Given the description of an element on the screen output the (x, y) to click on. 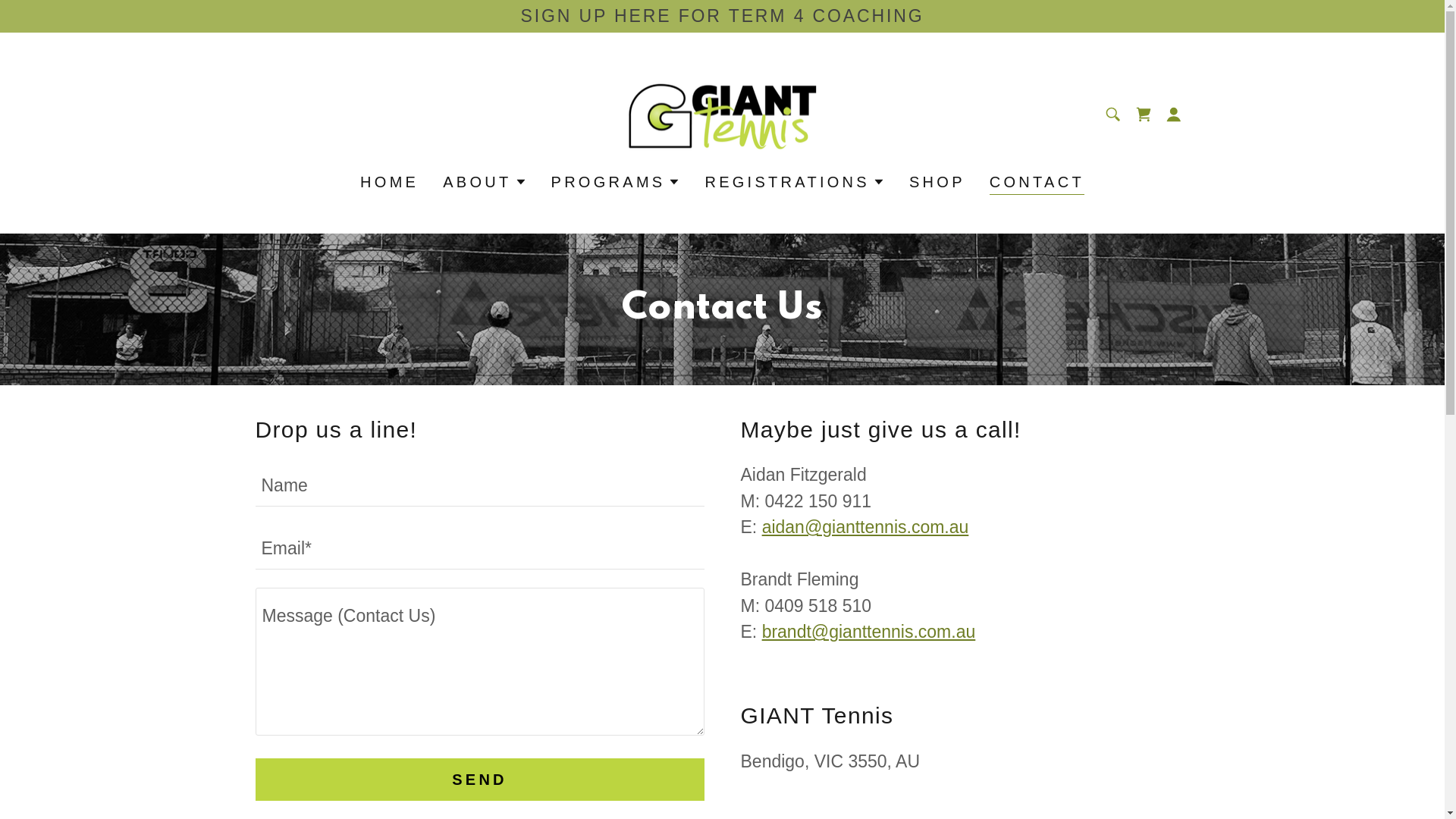
SHOP Element type: text (936, 181)
CONTACT Element type: text (1036, 183)
ABOUT Element type: text (484, 181)
SIGN UP HERE FOR TERM 4 COACHING Element type: text (722, 16)
REGISTRATIONS Element type: text (794, 181)
aidan@gianttennis.com.au Element type: text (865, 526)
brandt@gianttennis.com.au Element type: text (868, 631)
Giant Tennis Element type: hover (722, 112)
HOME Element type: text (389, 181)
SEND Element type: text (478, 779)
PROGRAMS Element type: text (615, 181)
